Given the description of an element on the screen output the (x, y) to click on. 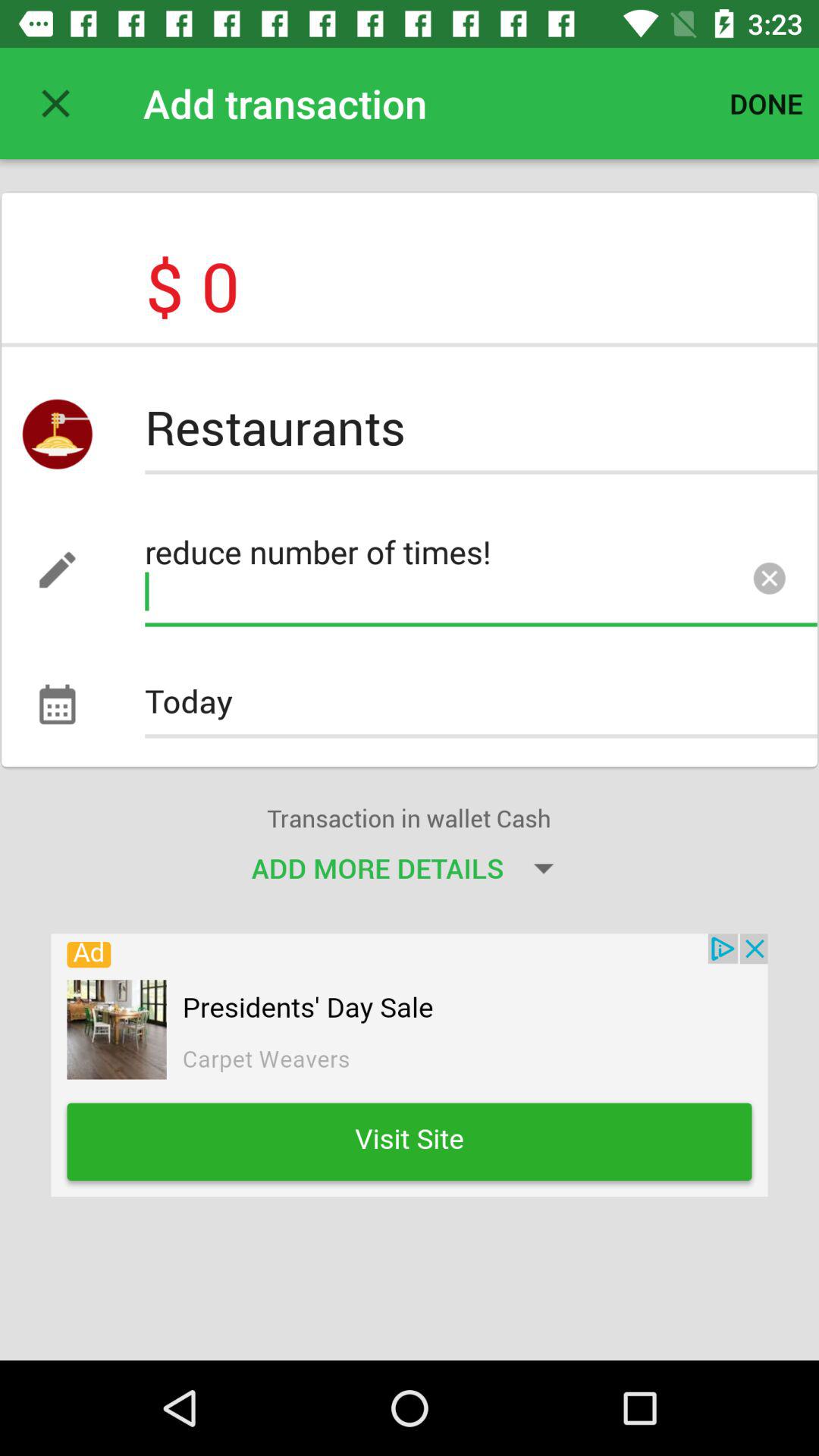
go to visite option (409, 1064)
